Given the description of an element on the screen output the (x, y) to click on. 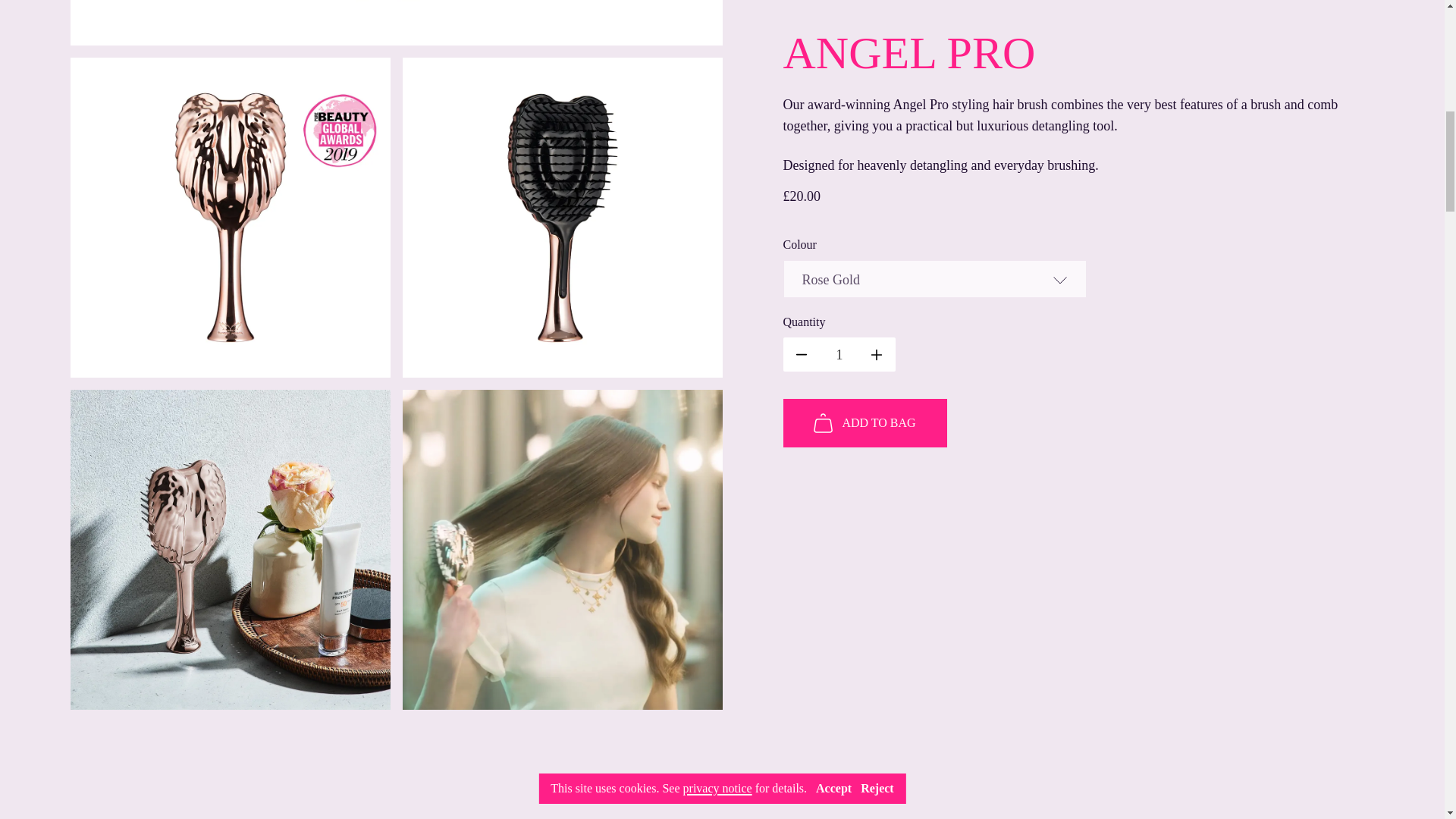
1 (428, 775)
